Given the description of an element on the screen output the (x, y) to click on. 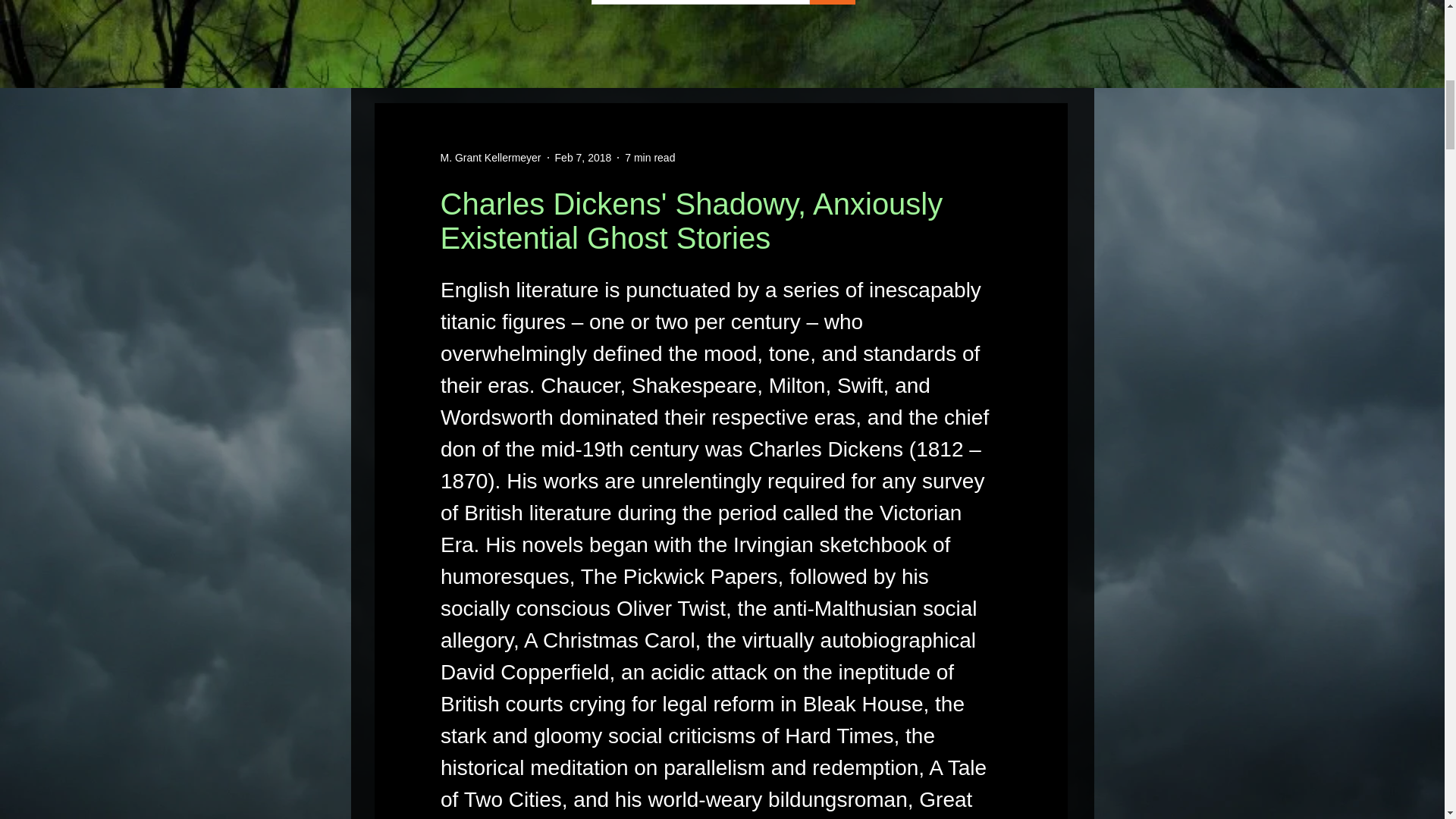
Feb 7, 2018 (582, 157)
M. Grant Kellermeyer (489, 157)
7 min read (649, 157)
M. Grant Kellermeyer (489, 157)
